Given the description of an element on the screen output the (x, y) to click on. 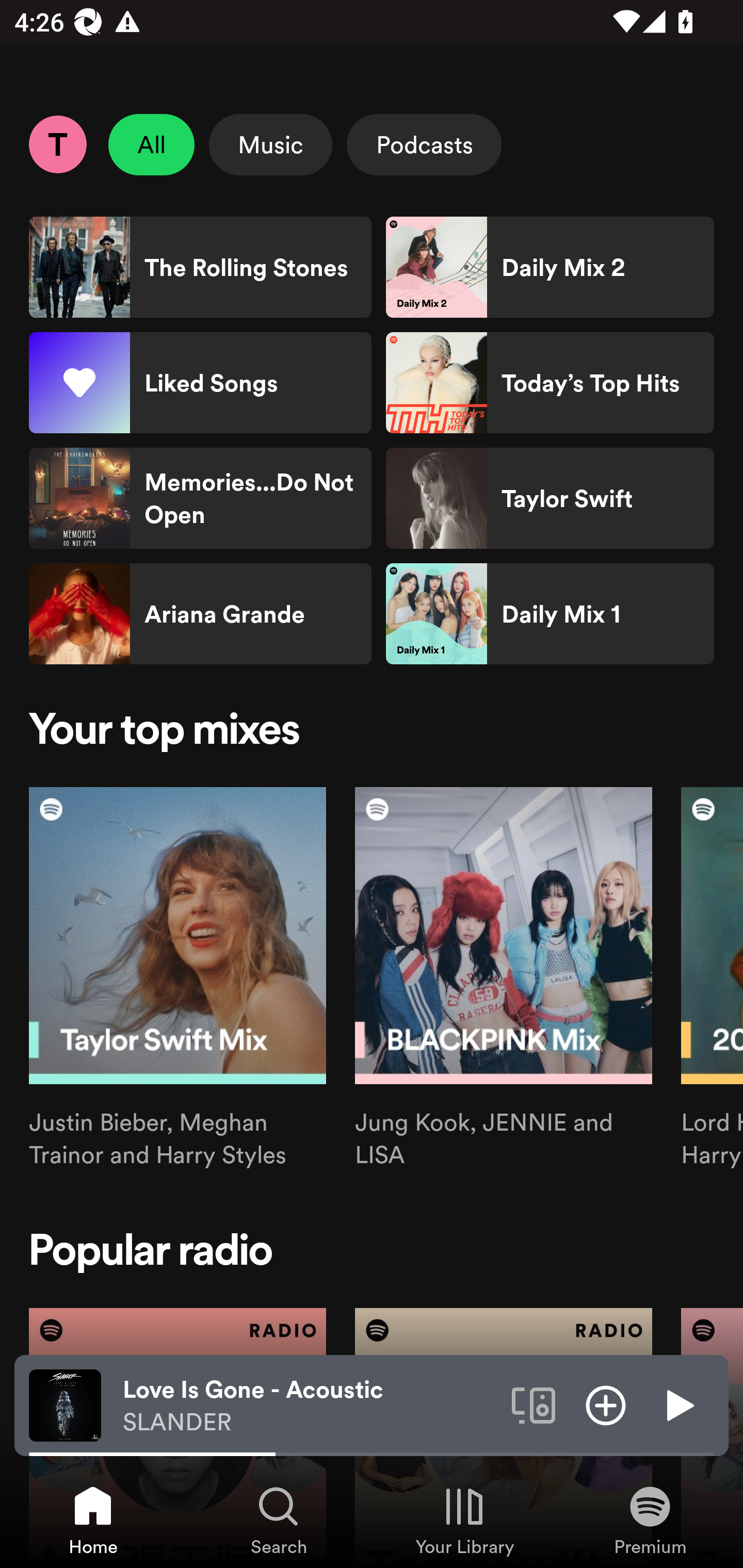
Profile (57, 144)
All Unselect All (151, 144)
Music Select Music (270, 144)
Podcasts Select Podcasts (423, 144)
The Rolling Stones Shortcut The Rolling Stones (199, 267)
Daily Mix 2 Shortcut Daily Mix 2 (549, 267)
Liked Songs Shortcut Liked Songs (199, 382)
Today’s Top Hits Shortcut Today’s Top Hits (549, 382)
Taylor Swift Shortcut Taylor Swift (549, 498)
Ariana Grande Shortcut Ariana Grande (199, 613)
Daily Mix 1 Shortcut Daily Mix 1 (549, 613)
Love Is Gone - Acoustic SLANDER (309, 1405)
The cover art of the currently playing track (64, 1404)
Connect to a device. Opens the devices menu (533, 1404)
Add item (605, 1404)
Play (677, 1404)
Home, Tab 1 of 4 Home Home (92, 1519)
Search, Tab 2 of 4 Search Search (278, 1519)
Your Library, Tab 3 of 4 Your Library Your Library (464, 1519)
Premium, Tab 4 of 4 Premium Premium (650, 1519)
